Given the description of an element on the screen output the (x, y) to click on. 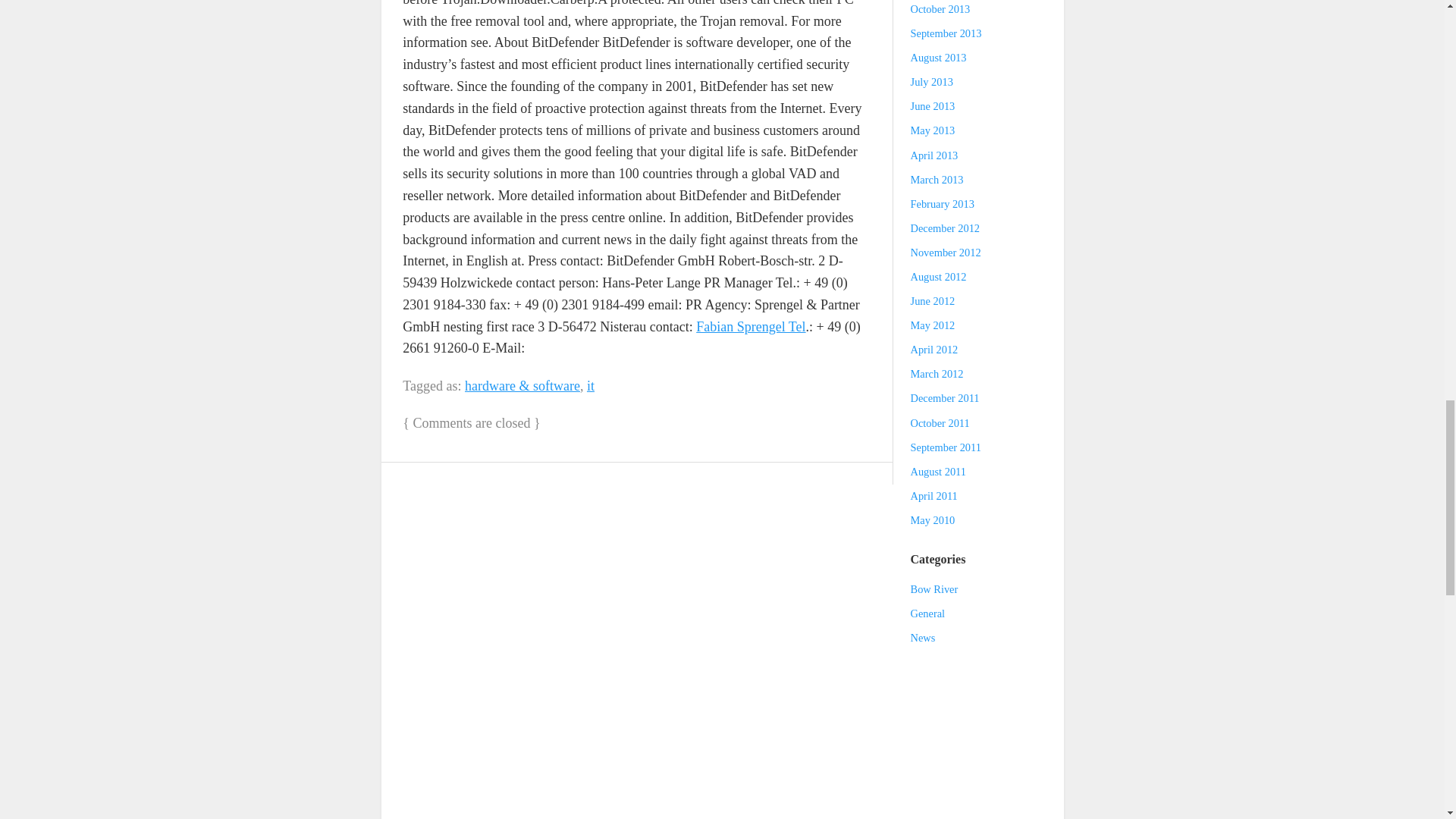
Fabian Sprengel Tel (750, 326)
